Given the description of an element on the screen output the (x, y) to click on. 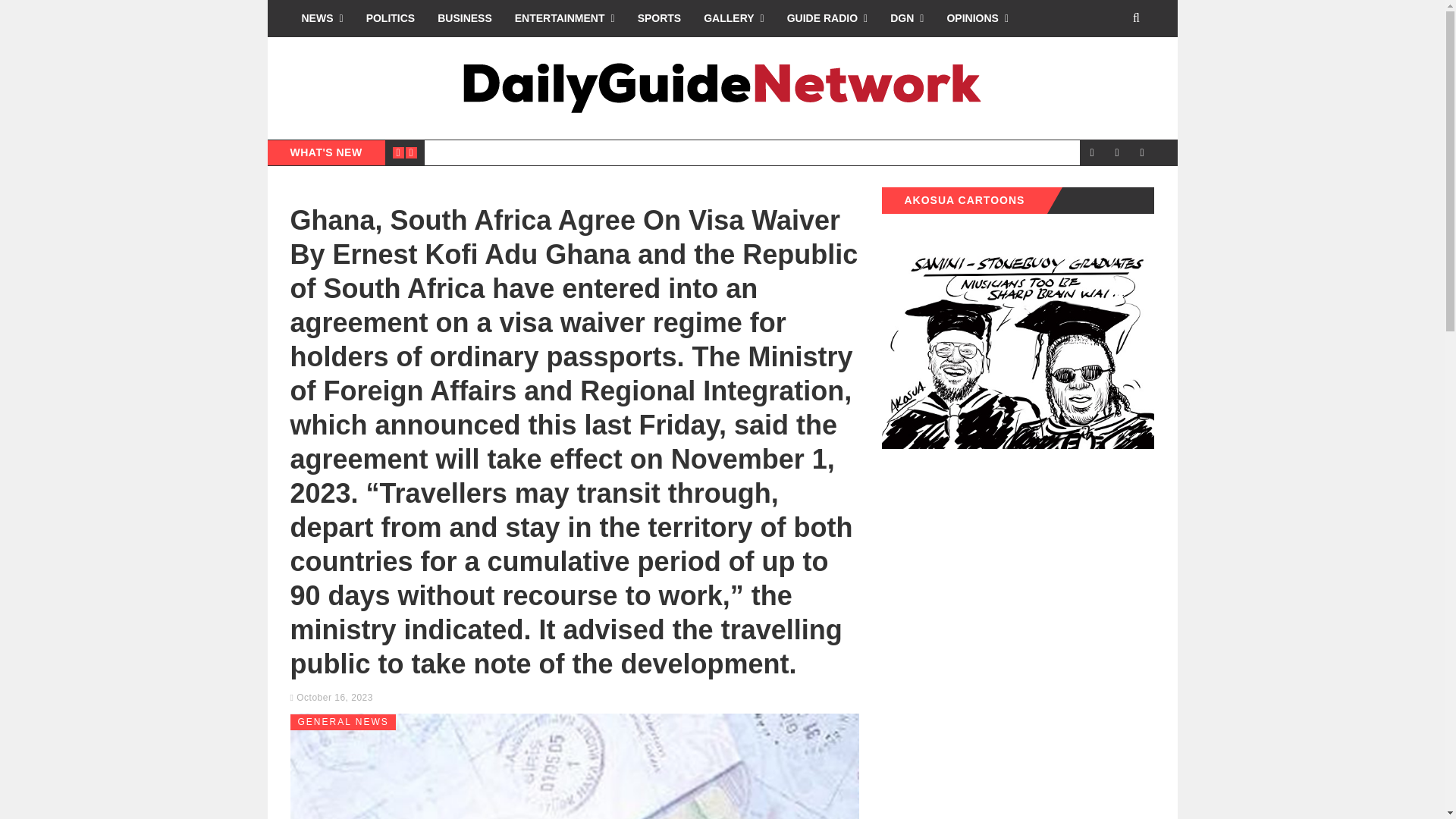
POLITICS (390, 18)
OPINIONS (977, 18)
GUIDE RADIO (827, 18)
GALLERY (734, 18)
BUSINESS (464, 18)
ENTERTAINMENT (564, 18)
DGN (906, 18)
NEWS (321, 18)
SPORTS (659, 18)
